Given the description of an element on the screen output the (x, y) to click on. 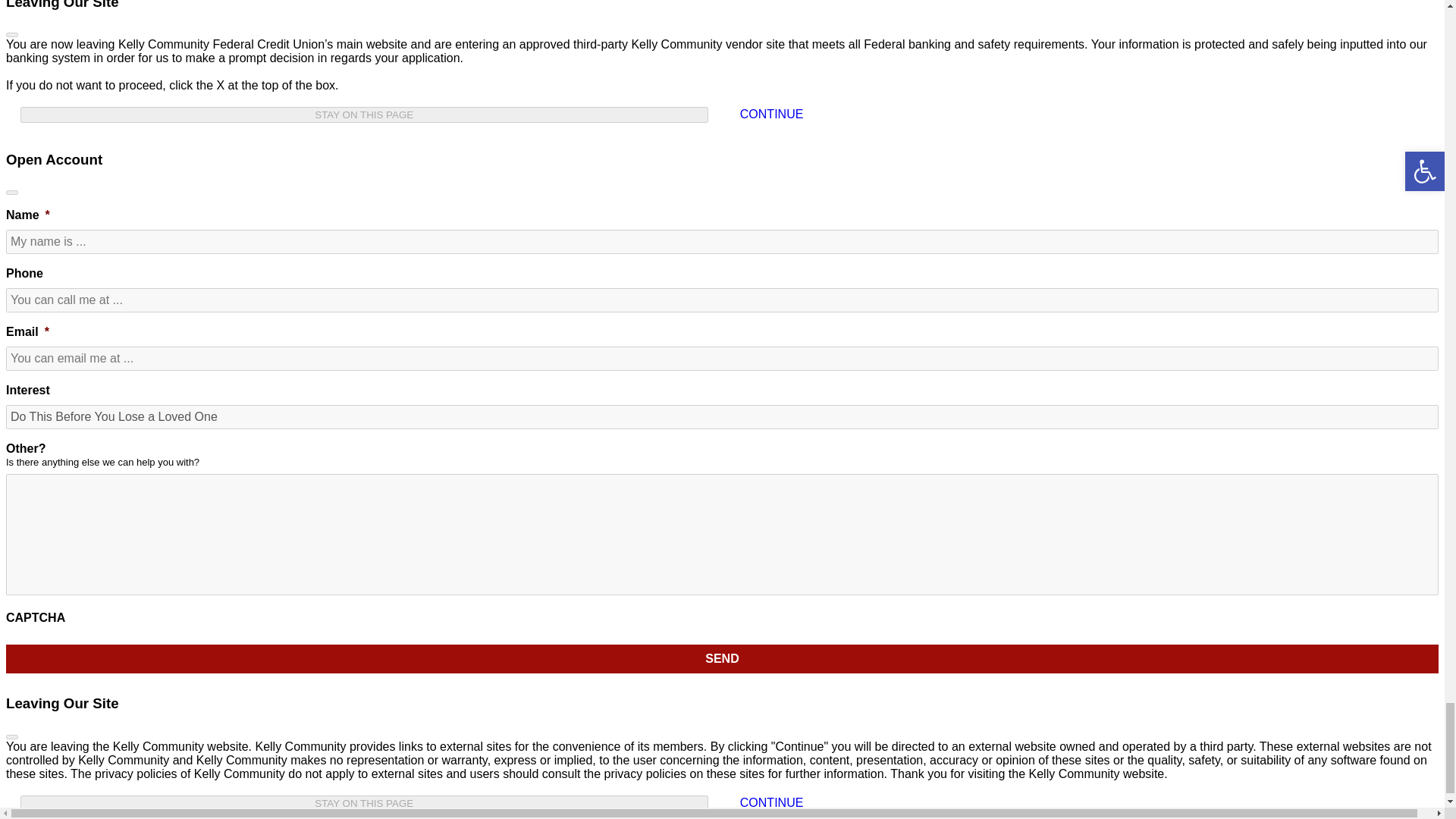
Do This Before You Lose a Loved One (721, 416)
Send (721, 658)
